Given the description of an element on the screen output the (x, y) to click on. 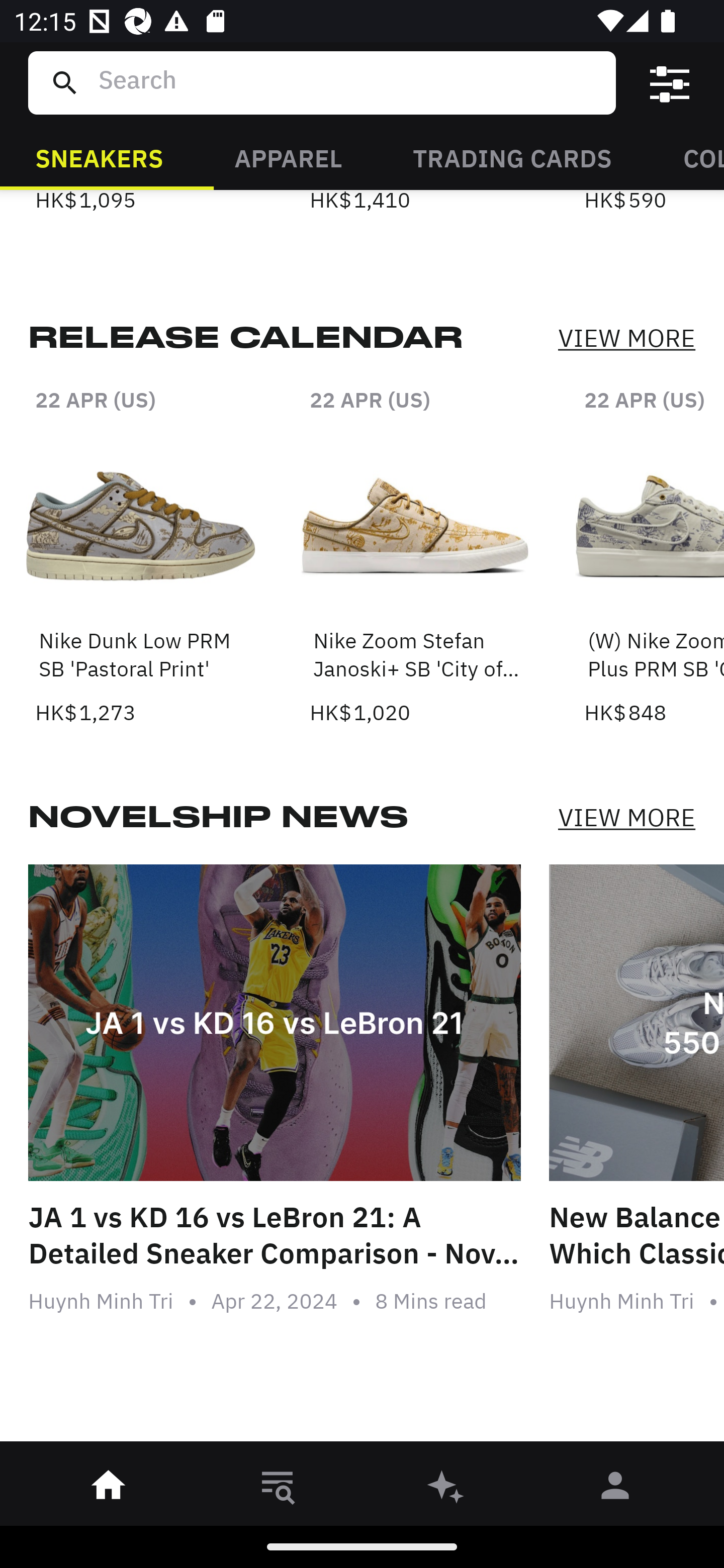
Search (349, 82)
 (669, 82)
SNEAKERS (99, 156)
APPAREL (287, 156)
TRADING CARDS (512, 156)
VIEW MORE (626, 338)
VIEW MORE (626, 816)
󰋜 (108, 1488)
󱎸 (277, 1488)
󰫢 (446, 1488)
󰀄 (615, 1488)
